Given the description of an element on the screen output the (x, y) to click on. 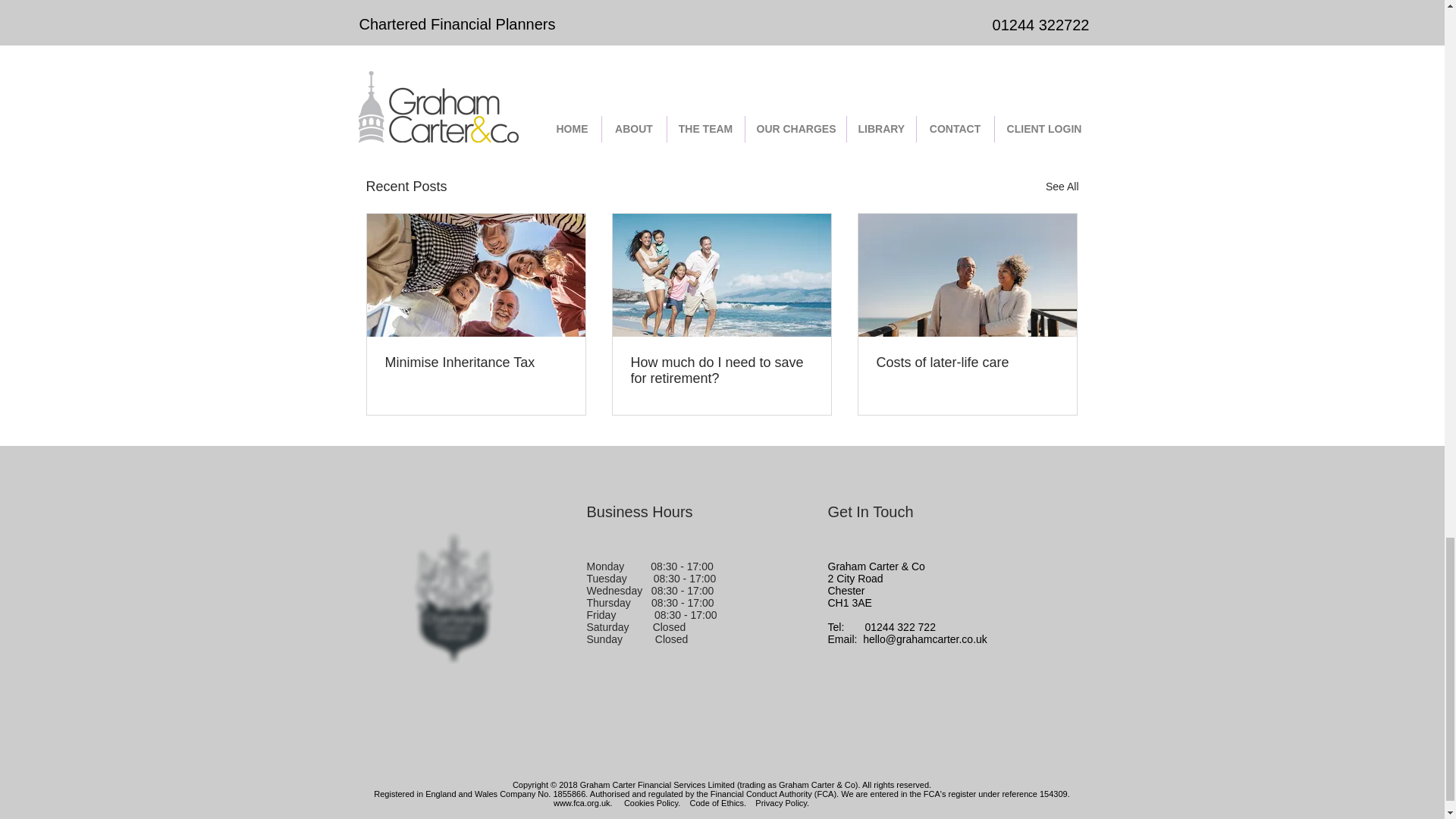
Minimise Inheritance Tax (476, 362)
How much do I need to save for retirement? (721, 370)
Costs of later-life care (967, 362)
See All (1061, 187)
Cookies Policy. (651, 802)
www.fca.org.uk (581, 802)
Code of Ethics. (718, 802)
Privacy Policy. (782, 802)
01244 322 722 (900, 626)
